Given the description of an element on the screen output the (x, y) to click on. 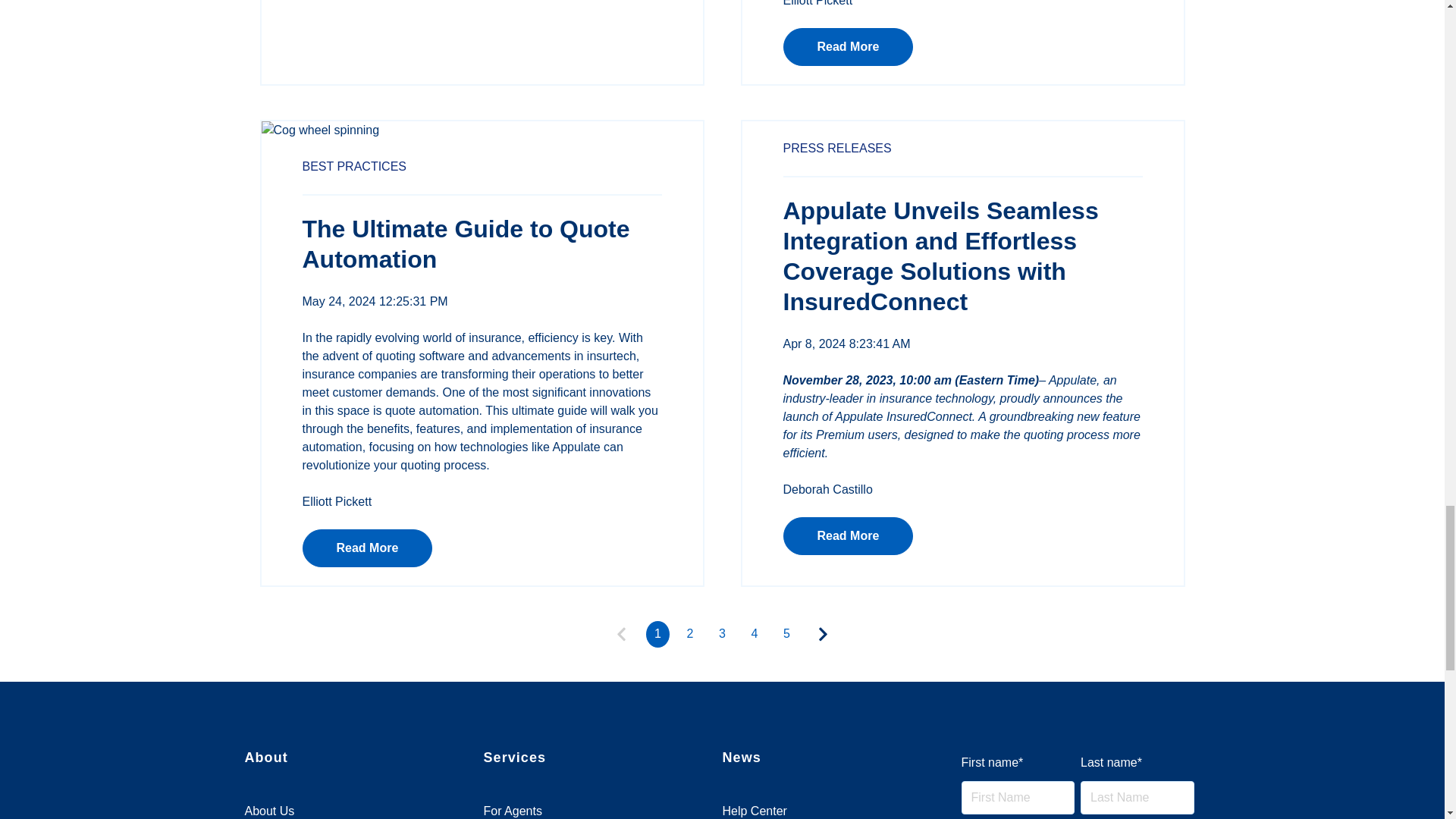
Read More (847, 535)
Elliott Pickett (817, 3)
PRESS RELEASES (837, 147)
BEST PRACTICES (353, 165)
Elliott Pickett (336, 501)
The Ultimate Guide to Quote Automation (464, 243)
Deborah Castillo (827, 489)
Read More (366, 548)
Read More (847, 46)
